Given the description of an element on the screen output the (x, y) to click on. 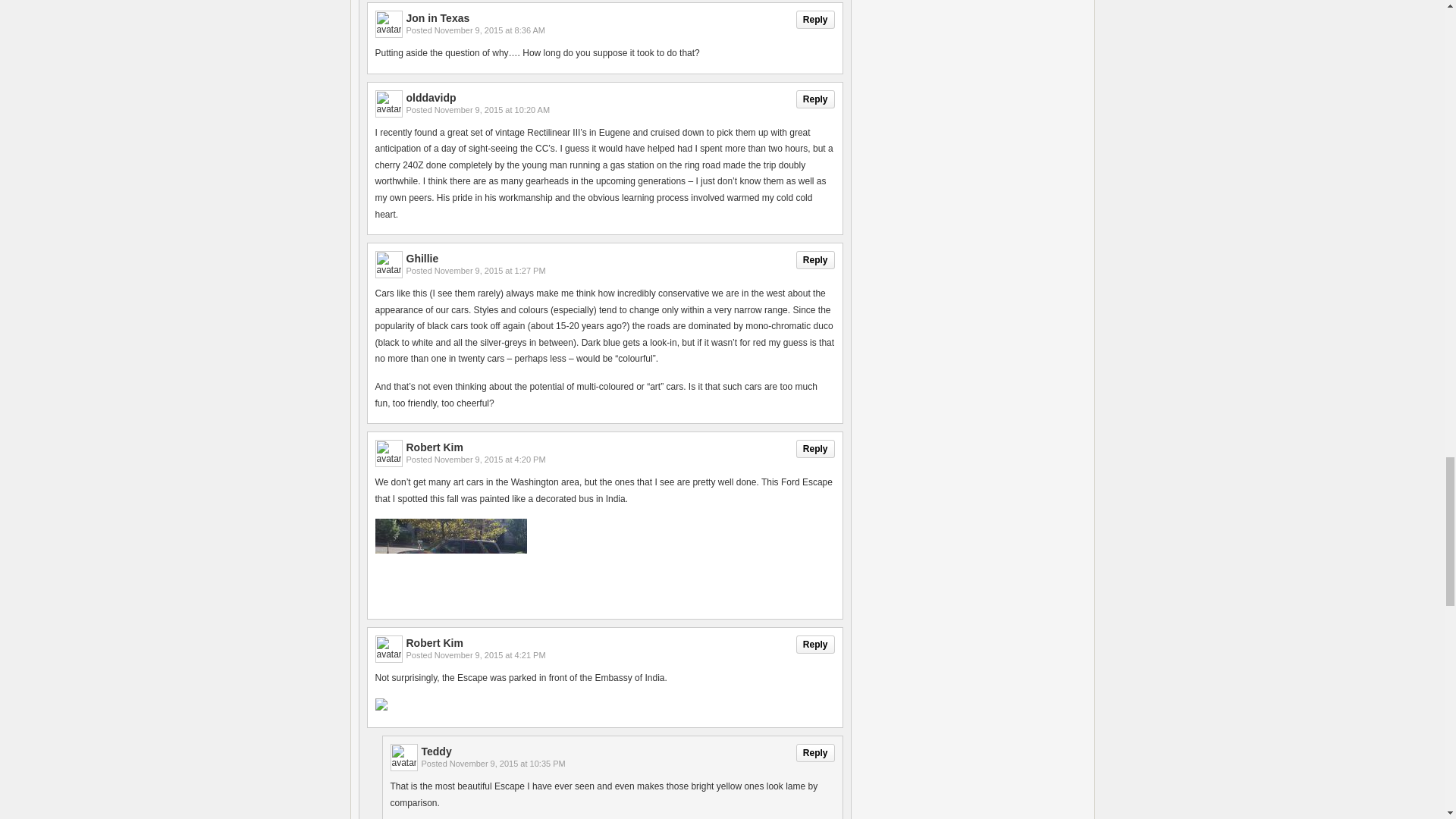
2015-11-09T08:36:49-08:00 (488, 30)
2015-11-09T16:20:22-08:00 (489, 459)
2015-11-09T10:20:46-08:00 (491, 109)
2015-11-09T13:27:47-08:00 (489, 270)
